Given the description of an element on the screen output the (x, y) to click on. 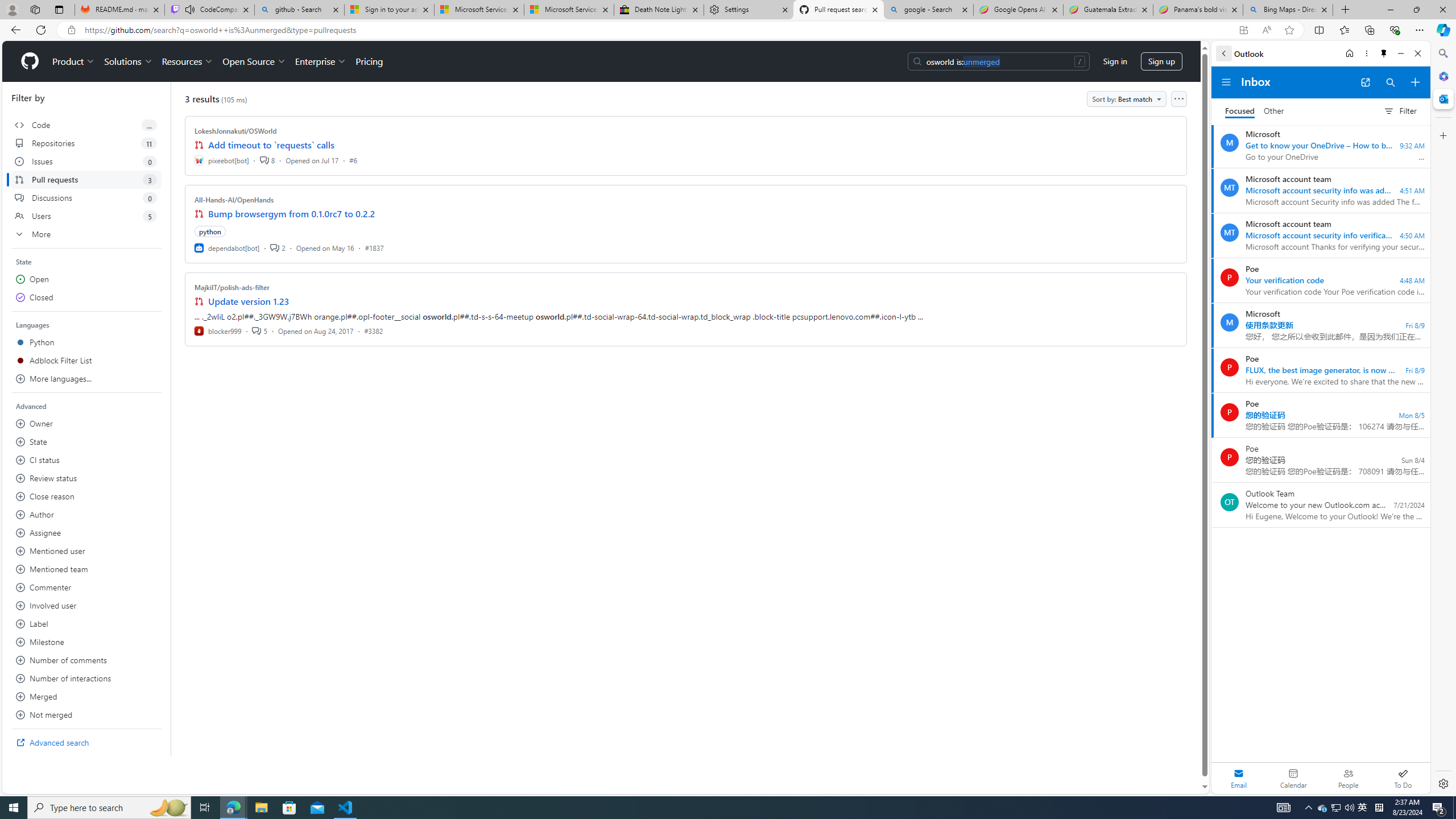
Add timeout to `requests` calls (271, 144)
Advanced search (86, 742)
Sign up (1161, 61)
